Given the description of an element on the screen output the (x, y) to click on. 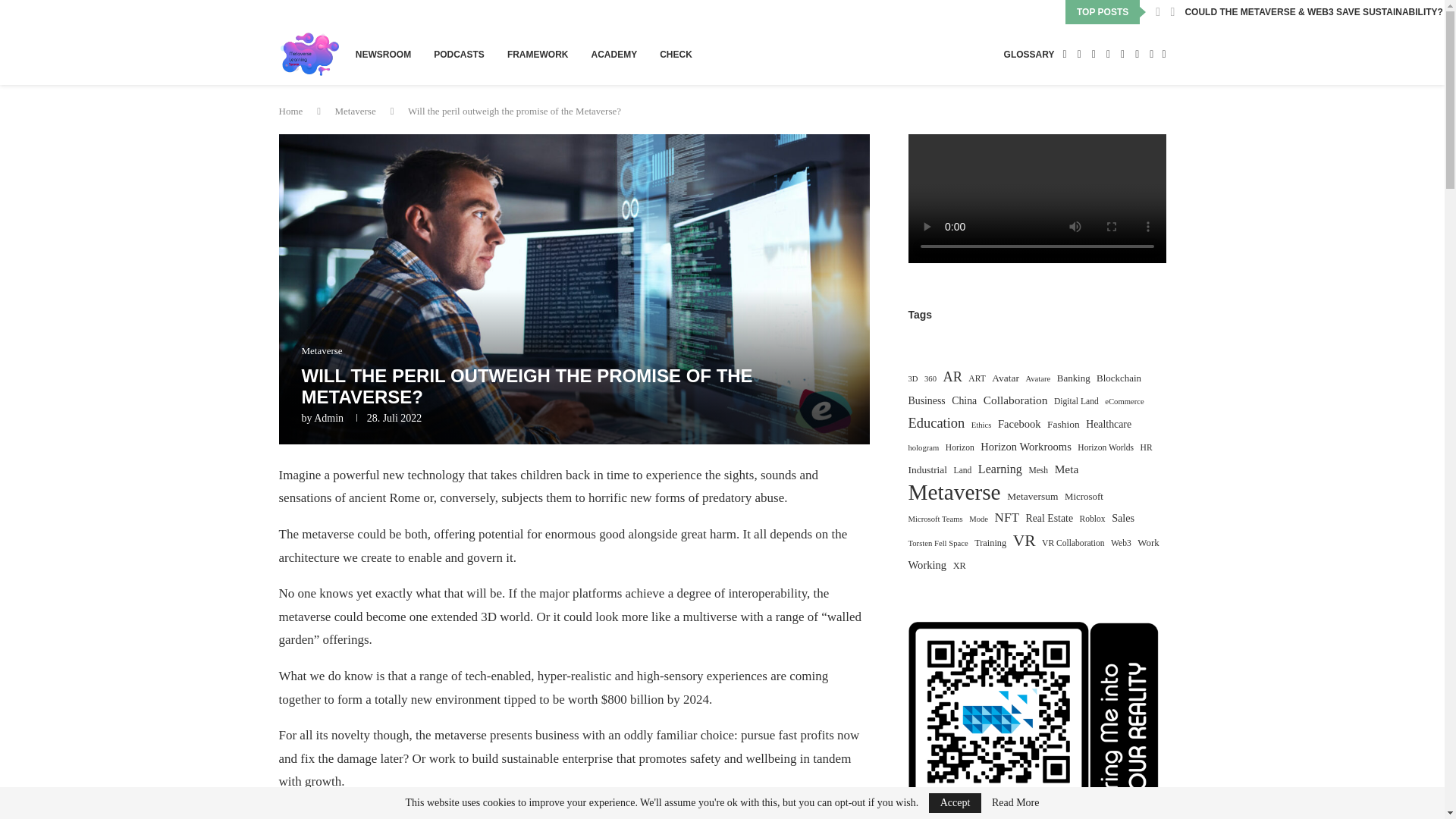
PODCASTS (458, 54)
NEWSROOM (382, 54)
ACADEMY (614, 54)
FRAMEWORK (537, 54)
GLOSSARY (1029, 54)
